Given the description of an element on the screen output the (x, y) to click on. 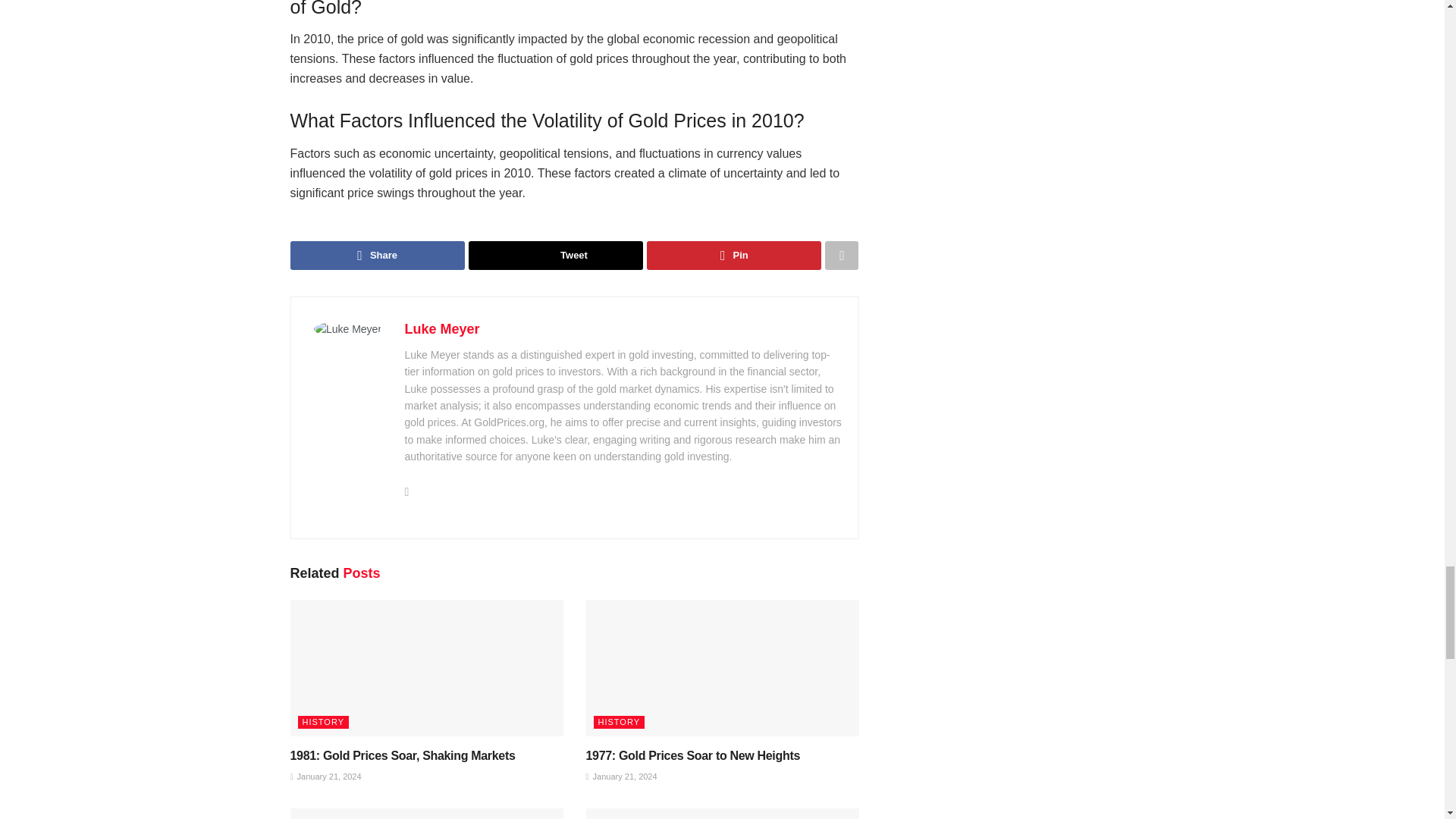
Pin (733, 255)
1981: Gold Prices Soar, Shaking Markets (402, 755)
HISTORY (323, 721)
January 21, 2024 (325, 776)
Share (376, 255)
Luke Meyer (442, 328)
Tweet (555, 255)
HISTORY (618, 721)
